Given the description of an element on the screen output the (x, y) to click on. 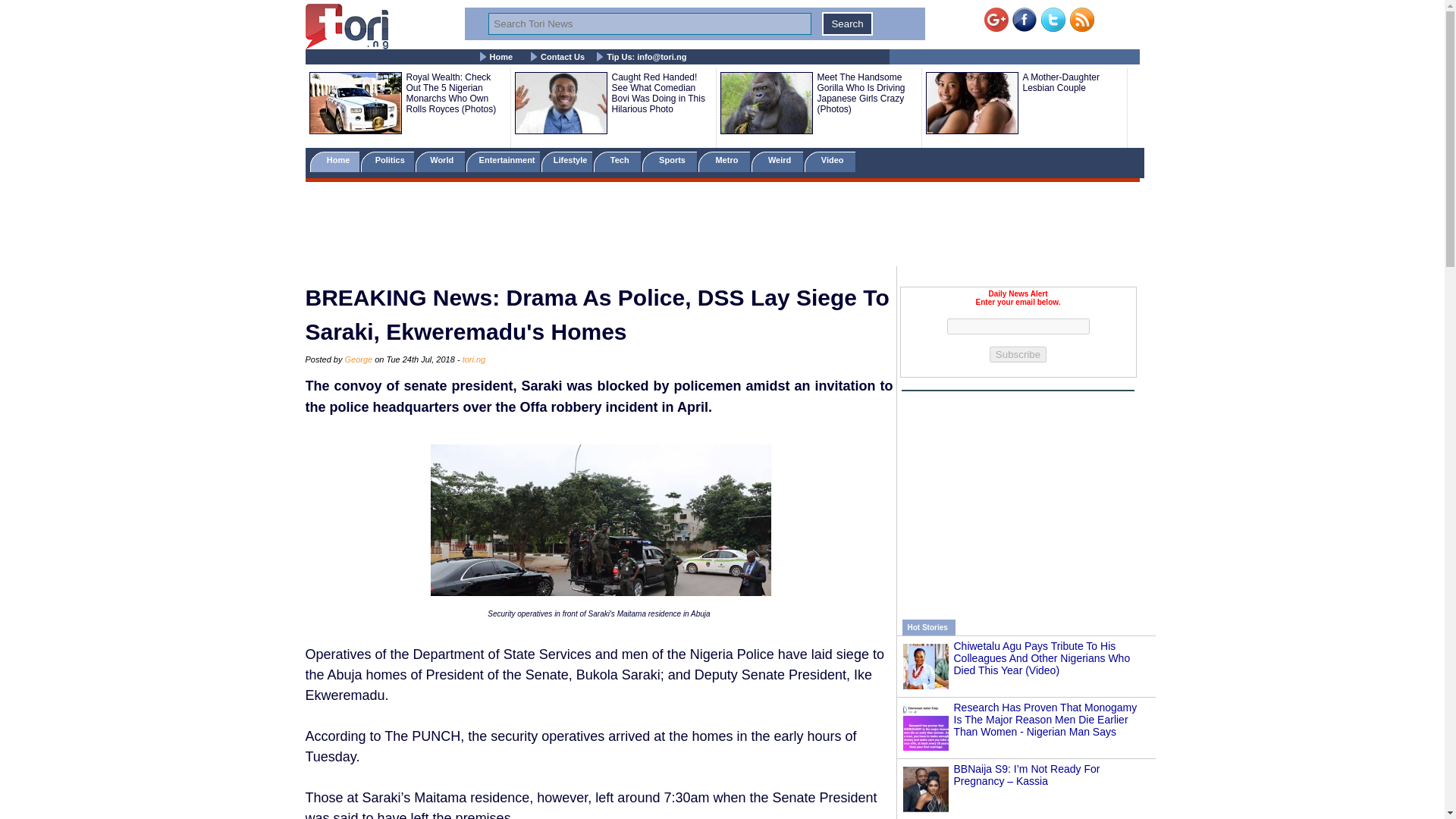
  Entertainment   (501, 161)
    Sports      (669, 161)
  Lifestyle   (566, 161)
   World      (439, 161)
Subscribe (1018, 354)
    Tech      (617, 161)
Search (847, 24)
Home (501, 56)
